Given the description of an element on the screen output the (x, y) to click on. 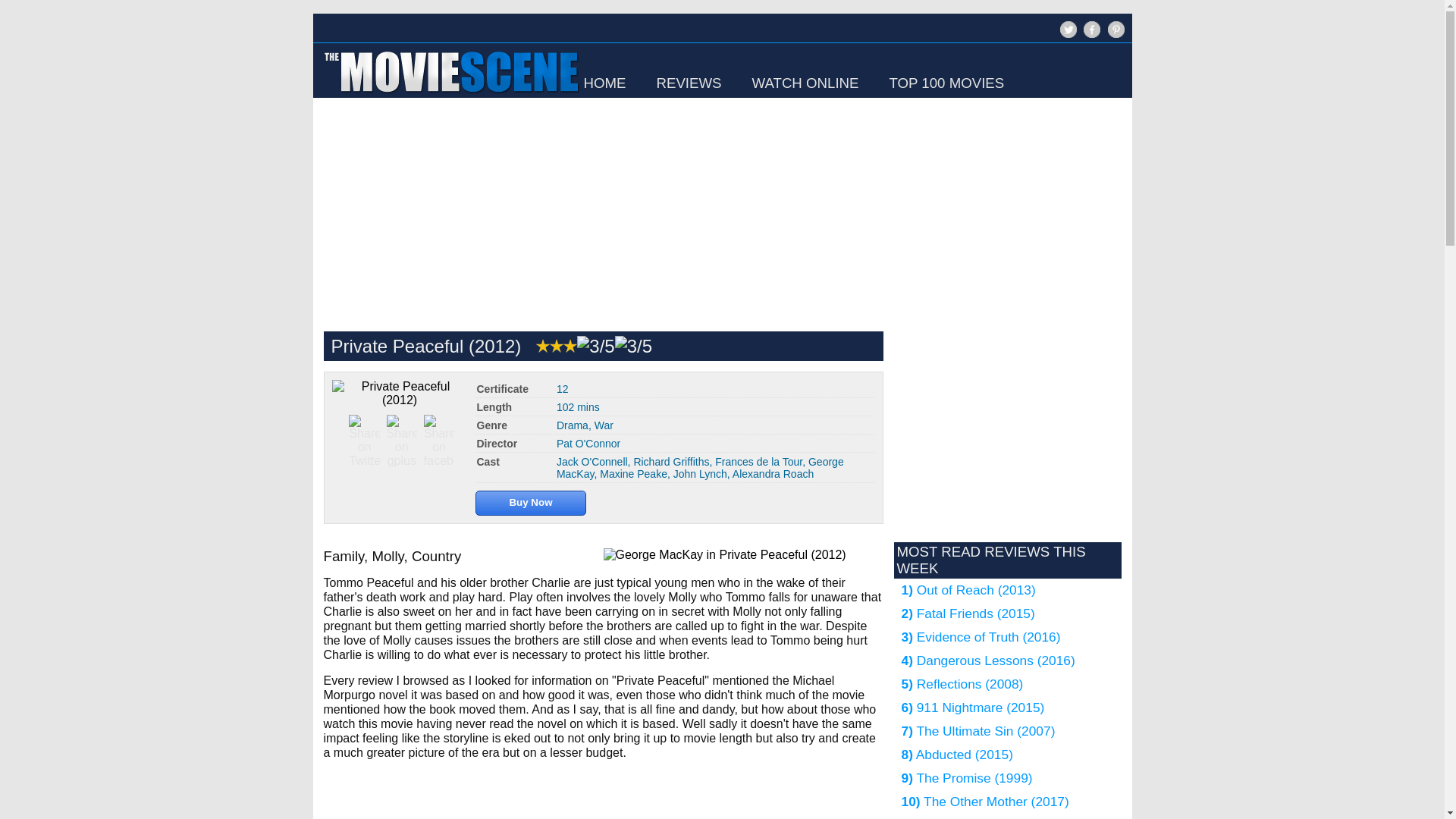
Like The Movie Scene on facebook (1090, 37)
Buy Now (531, 500)
Drama (572, 425)
Jack O'Connell (591, 461)
paid link (531, 500)
Pat O'Connor (588, 443)
Follow The Movie Scene on Pinterest (1115, 29)
Maxine Peake (632, 473)
Richard Griffiths (671, 461)
The Movie Scene - homepage (449, 94)
WATCH ONLINE (805, 83)
Follow The Movie Scene on Twitter (1067, 37)
War movies (603, 425)
HOME (604, 83)
War (603, 425)
